Given the description of an element on the screen output the (x, y) to click on. 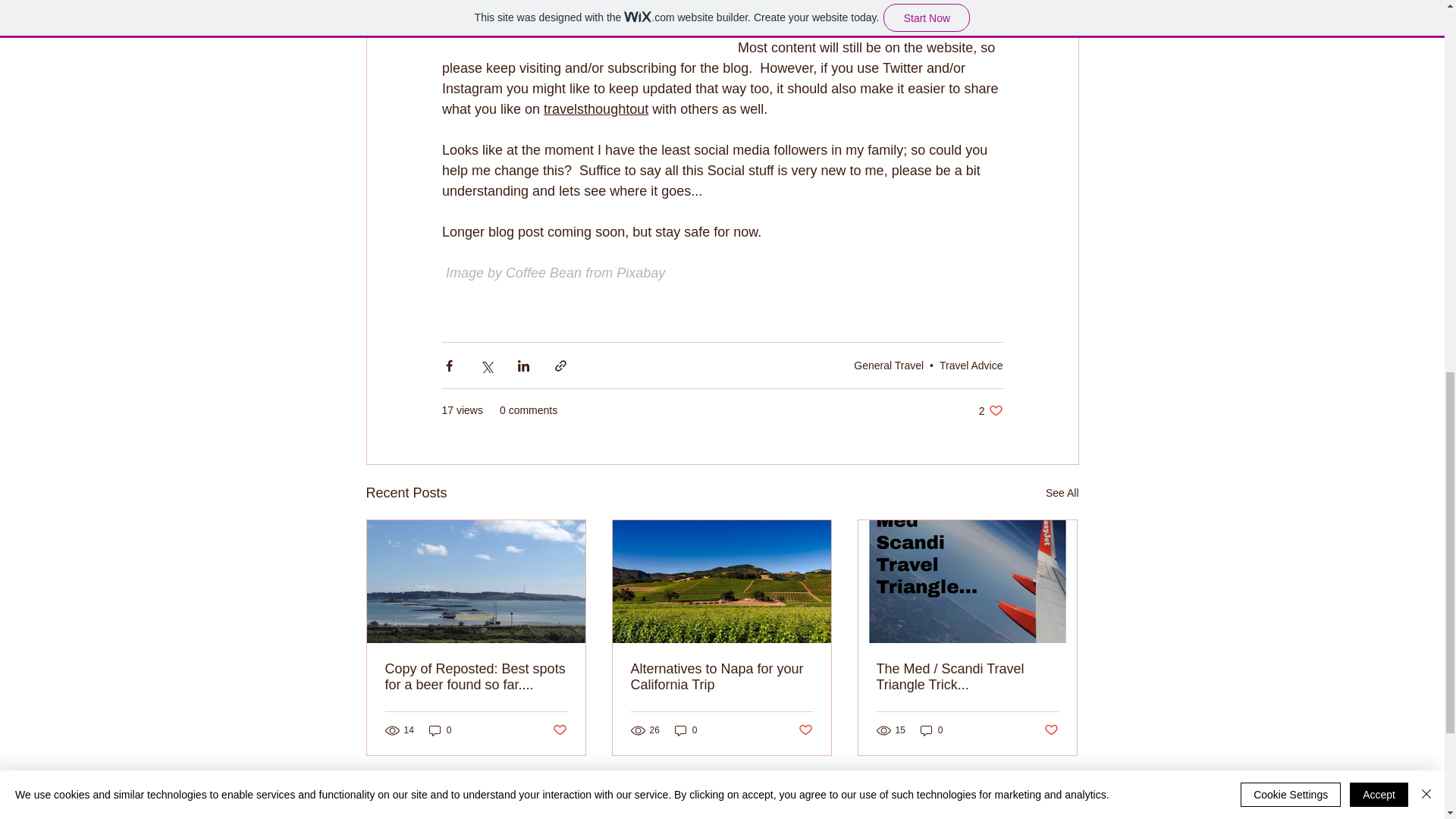
Travel Advice (971, 365)
General Travel (888, 365)
See All (1061, 493)
Coffee Bean (542, 272)
travelsthoughtout (595, 109)
Copy of Reposted: Best spots for a beer found so far.... (476, 676)
Pixabay (640, 272)
